Given the description of an element on the screen output the (x, y) to click on. 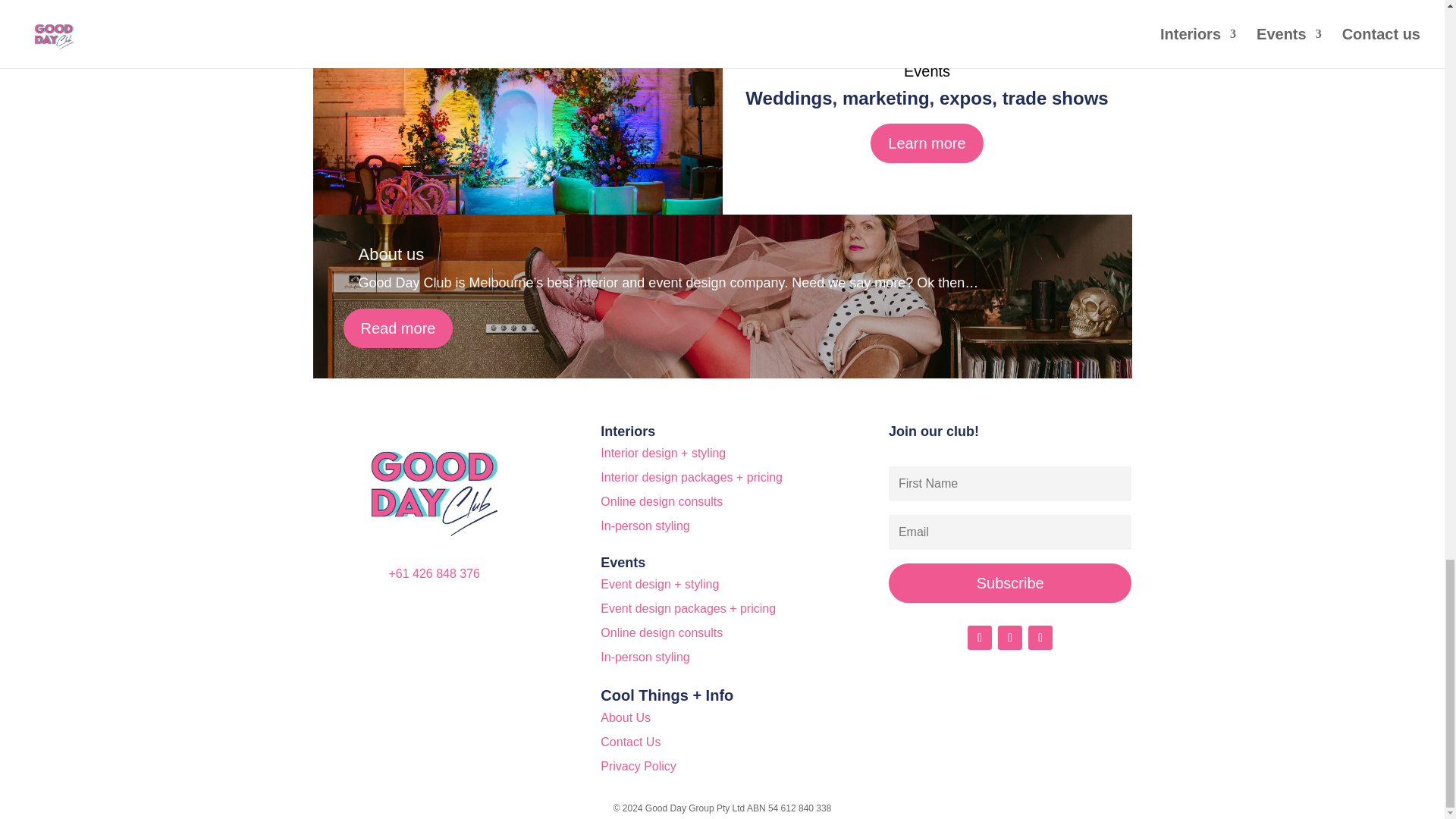
In-person styling (643, 656)
Learn more (926, 142)
Online design consults (660, 632)
Read more (397, 328)
About Us (624, 717)
In-person styling (643, 525)
Follow on Facebook (979, 637)
Online design consults (660, 501)
Follow on Instagram (1009, 637)
Follow on Pinterest (1039, 637)
